Given the description of an element on the screen output the (x, y) to click on. 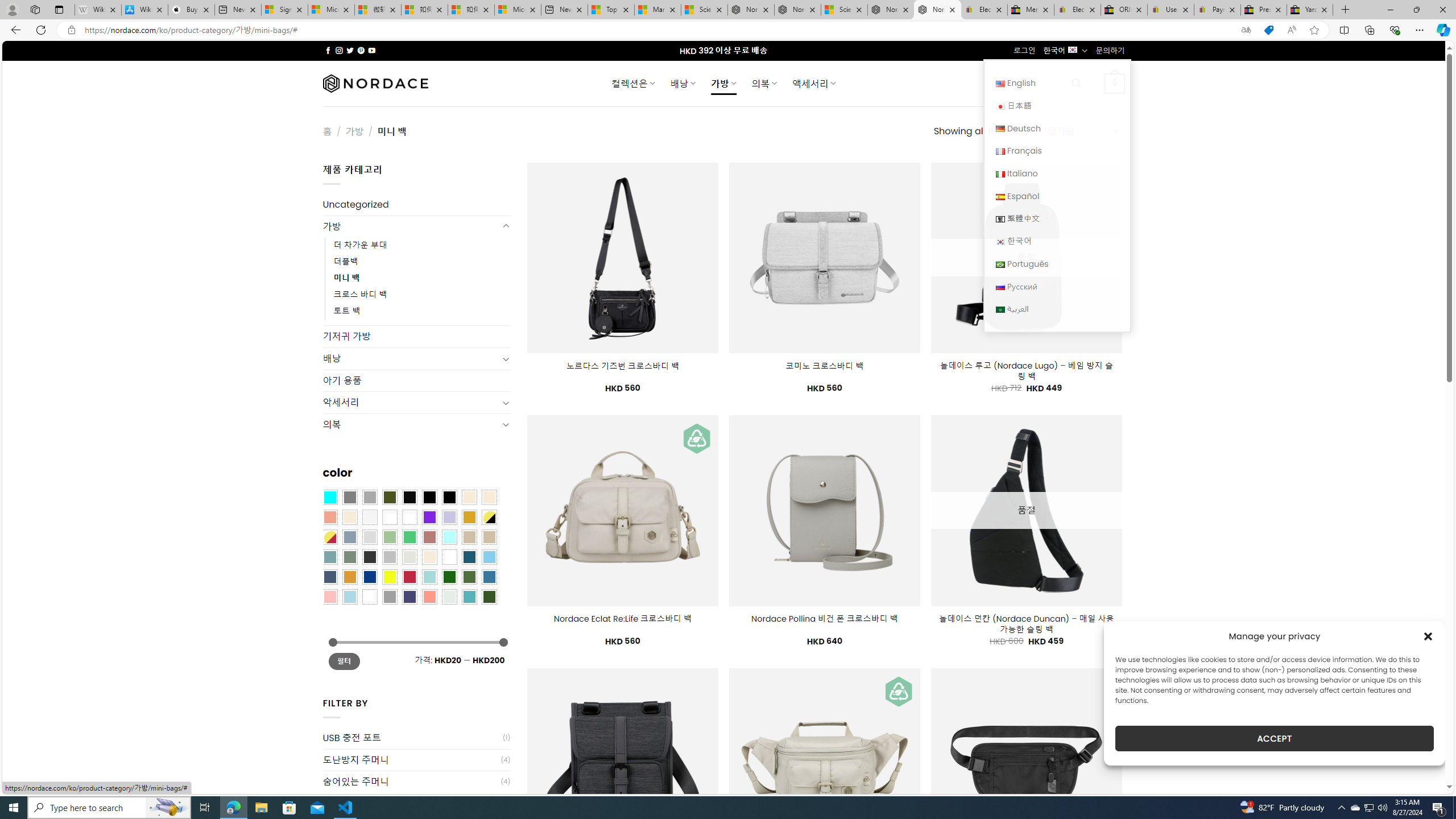
Italiano Italiano (1056, 173)
ACCEPT (1274, 738)
English English (1056, 83)
